Given the description of an element on the screen output the (x, y) to click on. 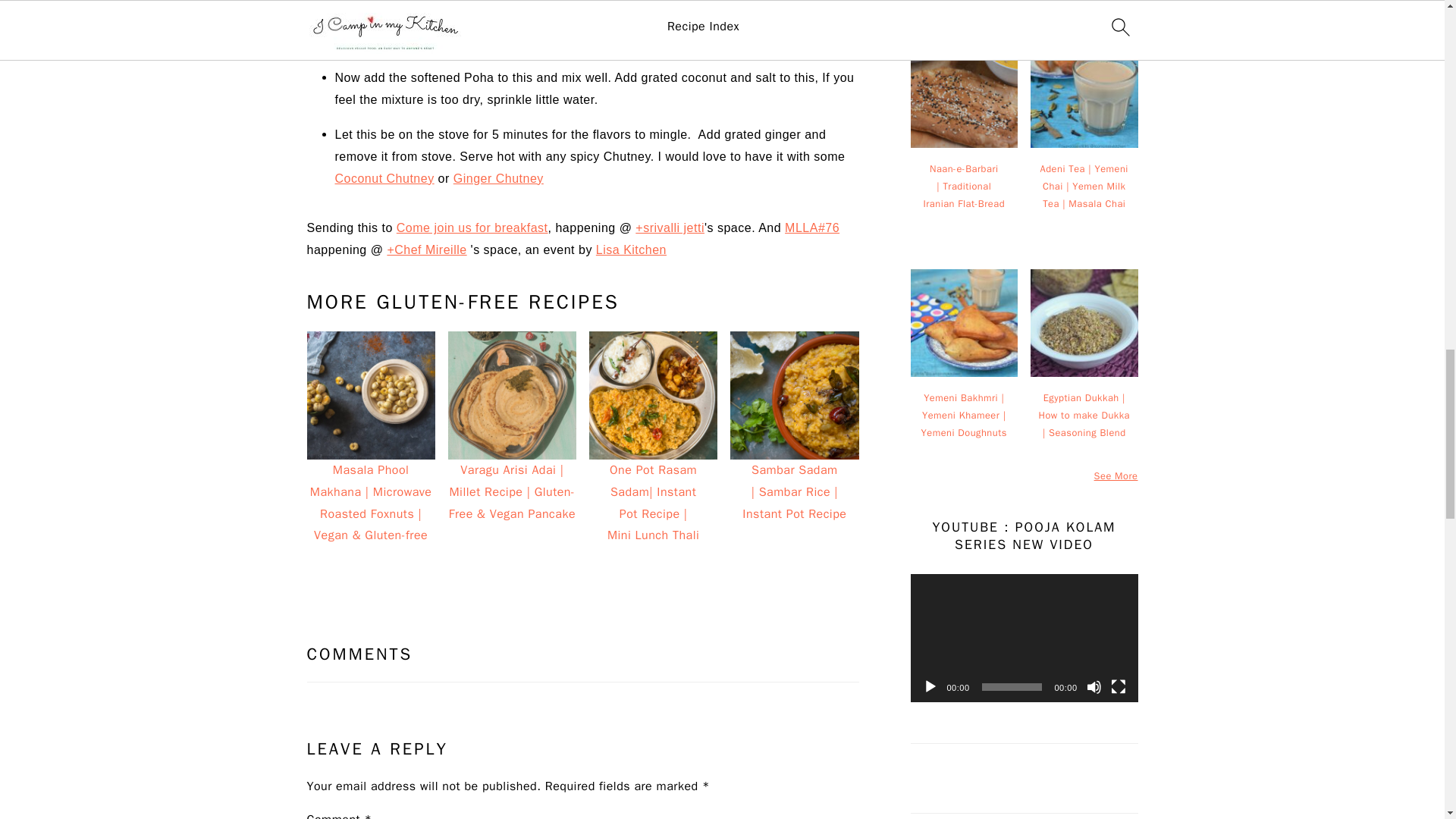
Coconut Chutney (383, 178)
Fullscreen (1117, 686)
Come join us for breakfast (472, 227)
Play (929, 686)
Ginger Chutney (497, 178)
Mute (1093, 686)
